Given the description of an element on the screen output the (x, y) to click on. 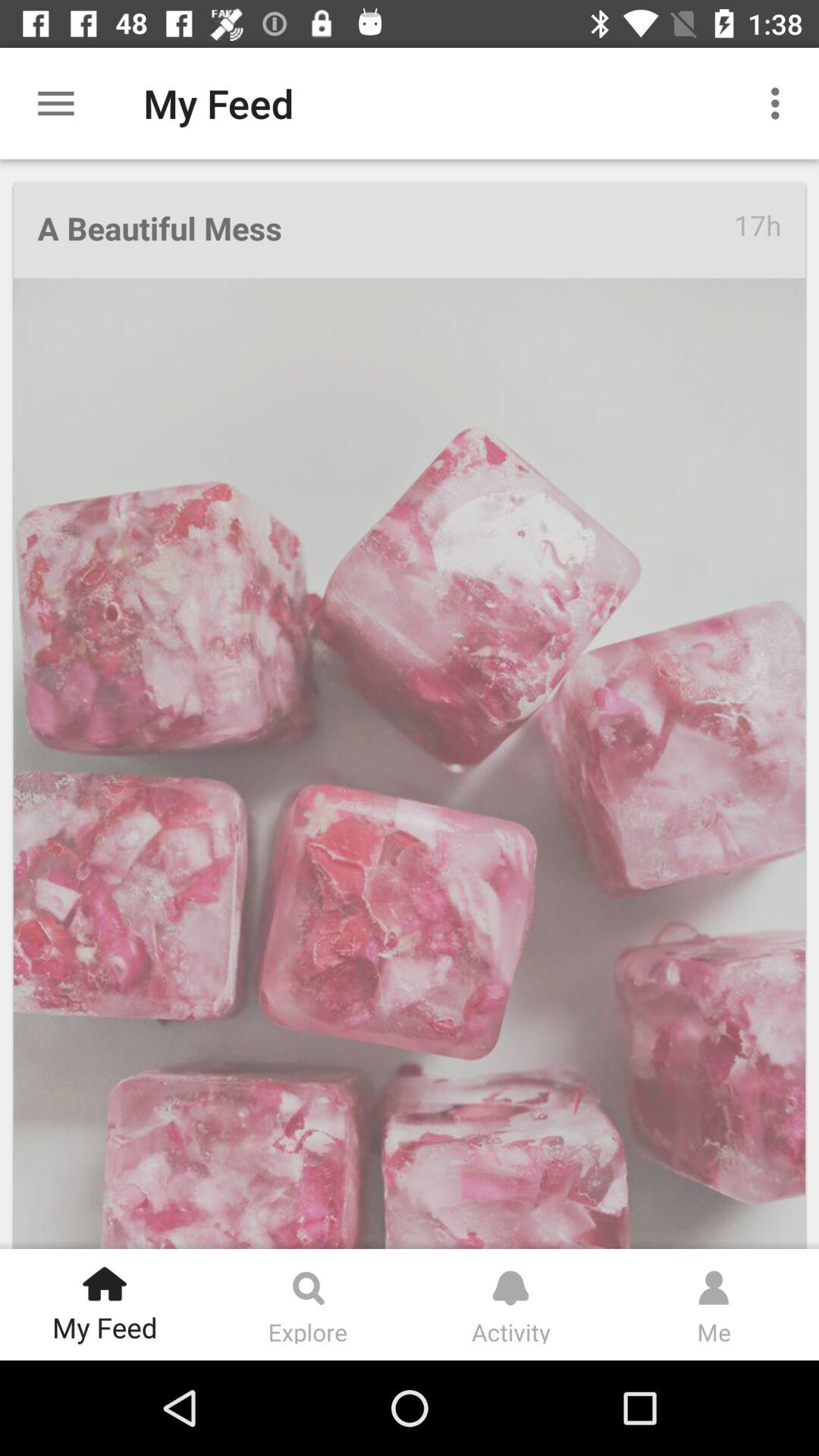
click the icon to the right of the my feed item (779, 103)
